Given the description of an element on the screen output the (x, y) to click on. 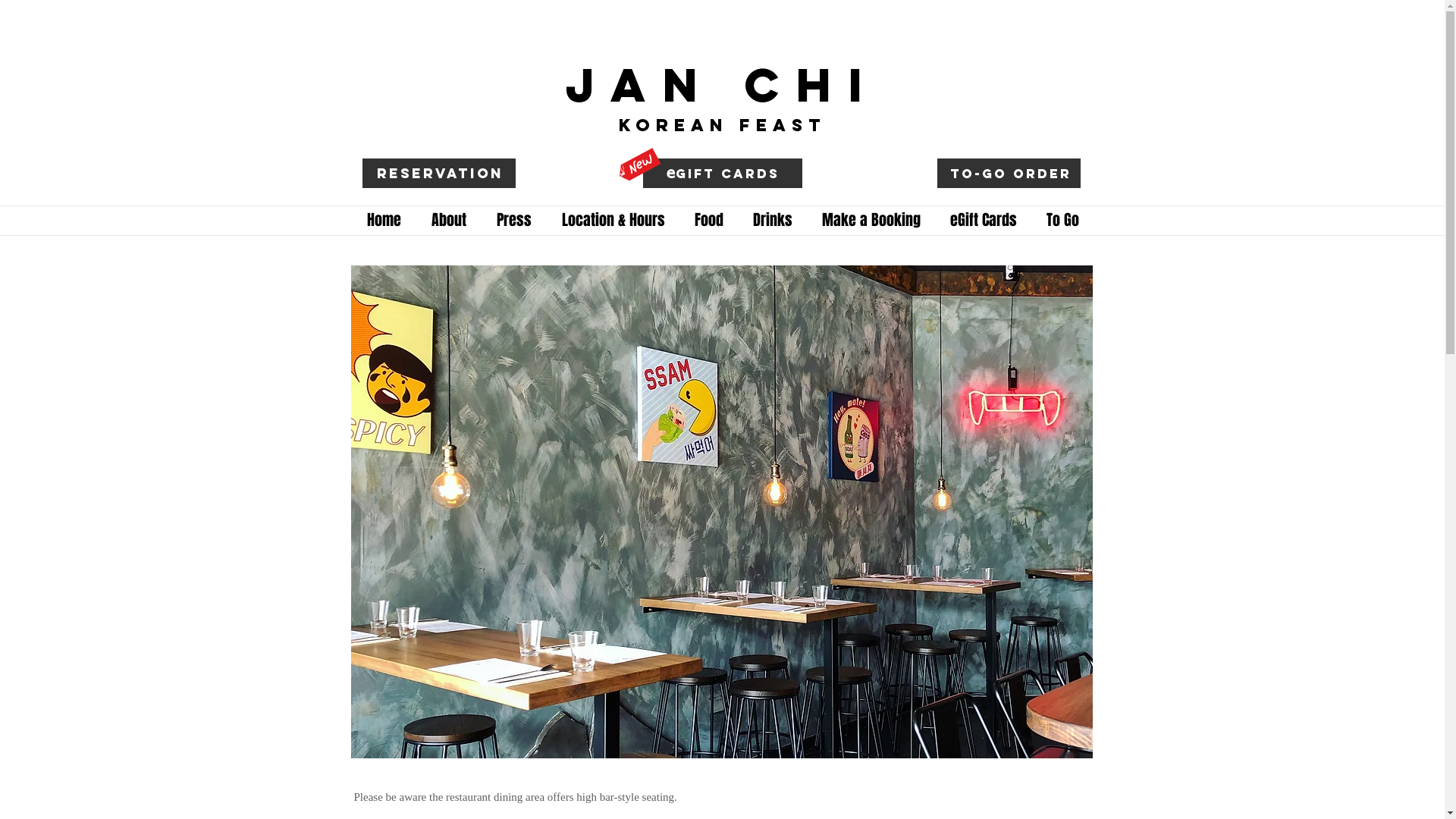
JAN CHI Element type: text (722, 86)
To Go Element type: text (1062, 220)
Location & Hours Element type: text (612, 220)
Food Element type: text (708, 220)
eGift Cards Element type: text (983, 220)
Home Element type: text (383, 220)
eGIFT CARDS Element type: text (722, 174)
Press Element type: text (513, 220)
Drinks Element type: text (772, 220)
Make a Booking Element type: text (870, 220)
About Element type: text (447, 220)
TO-GO ORDER Element type: text (1010, 174)
Reservation Element type: text (439, 173)
